Given the description of an element on the screen output the (x, y) to click on. 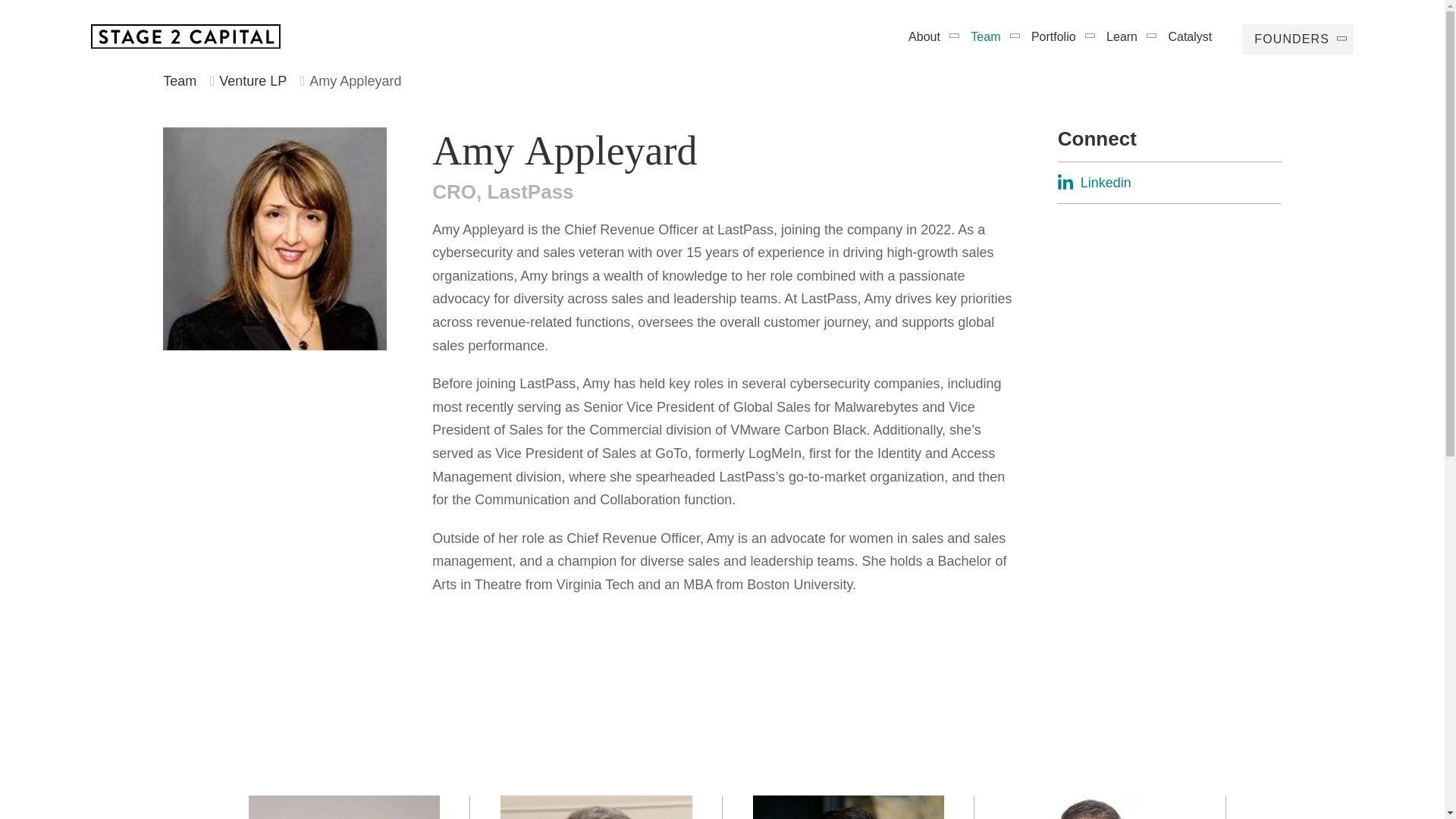
About (343, 806)
Linkedin (926, 36)
Portfolio (595, 806)
Learn (1169, 182)
Team (1056, 36)
Venture LP (1123, 36)
FOUNDERS (987, 36)
Catalyst (252, 80)
Team (1297, 39)
